Given the description of an element on the screen output the (x, y) to click on. 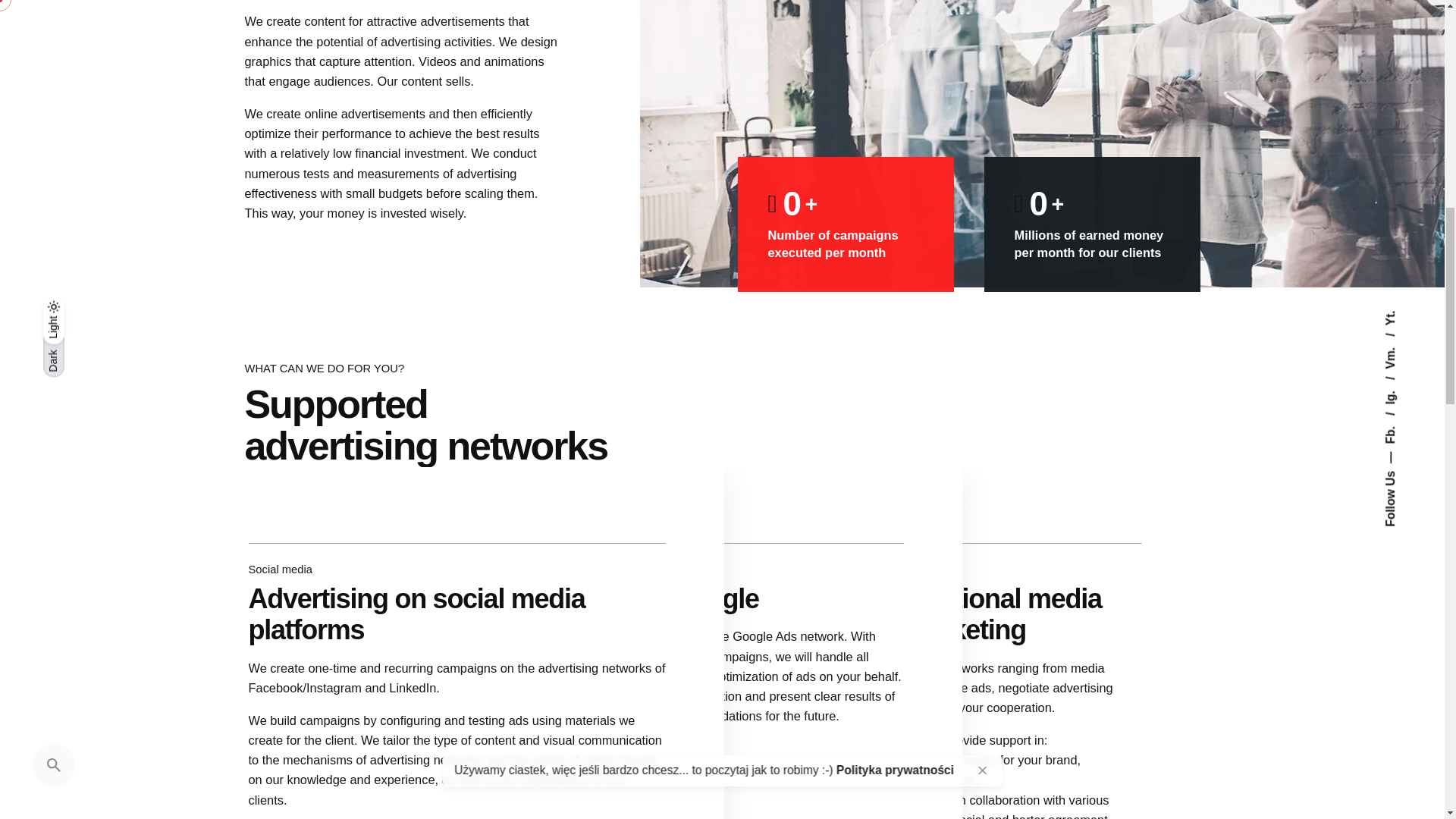
analityka-knowit (724, 800)
